Given the description of an element on the screen output the (x, y) to click on. 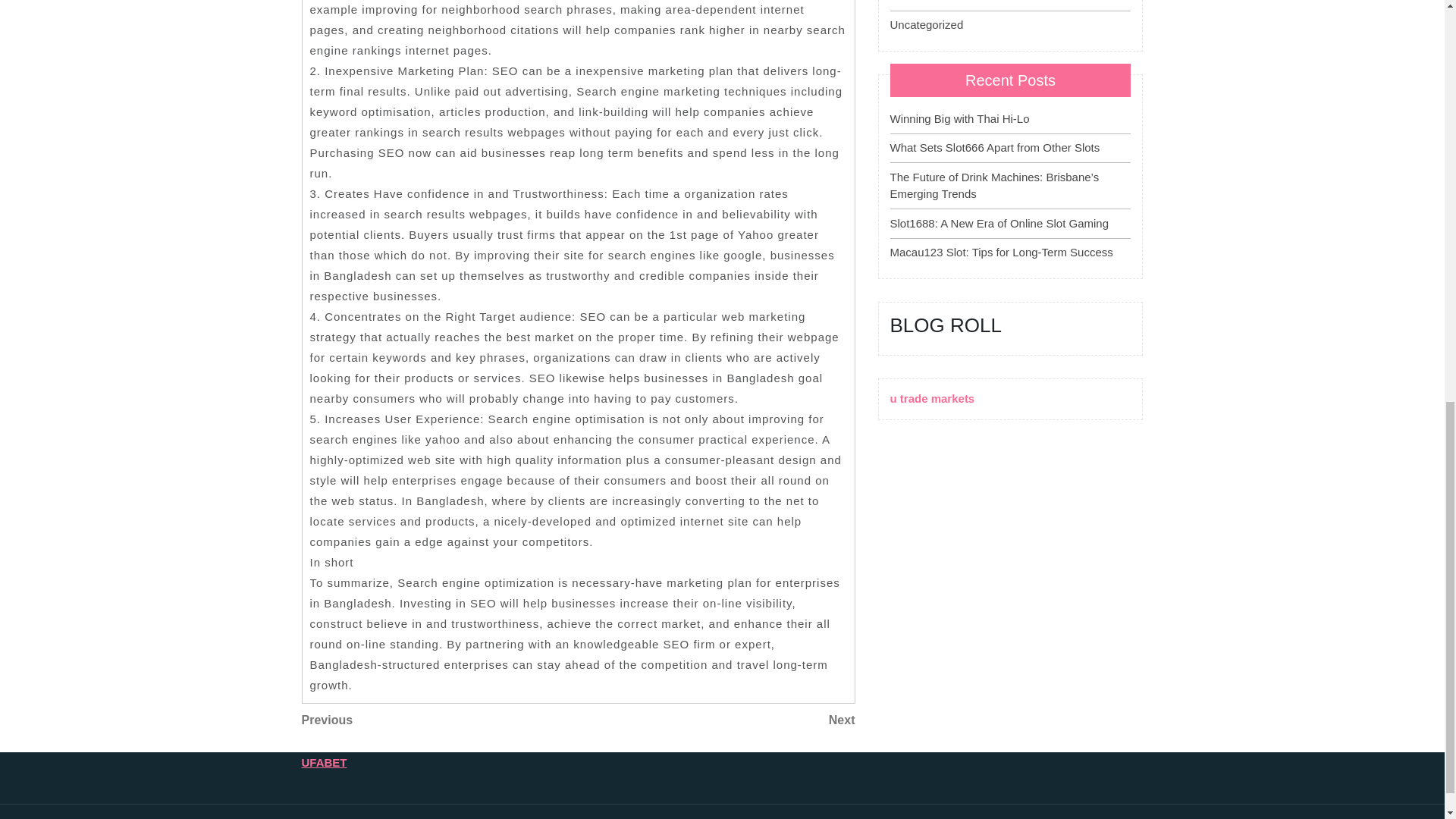
Macau123 Slot: Tips for Long-Term Success (1001, 251)
Winning Big with Thai Hi-Lo (959, 118)
UFABET (324, 762)
u trade markets (932, 398)
Software (439, 720)
Sports WordPress Theme By Luzuk (911, 1)
Uncategorized (1397, 73)
What Sets Slot666 Apart from Other Slots (926, 24)
